Given the description of an element on the screen output the (x, y) to click on. 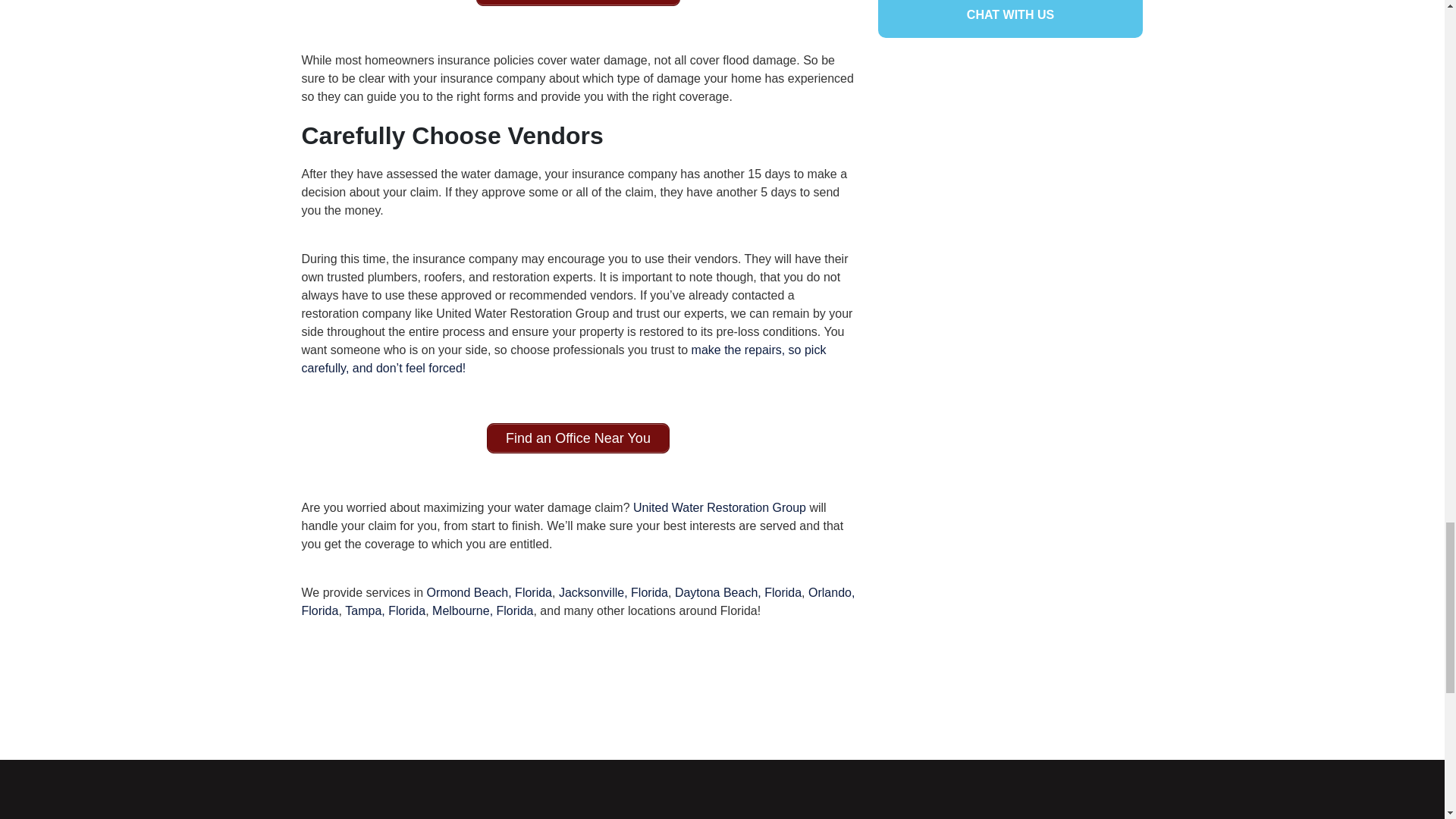
Melbourne, Florida (481, 610)
Ormond Beach, Florida (487, 592)
Orlando, Florida (578, 601)
Tampa, Florida (383, 610)
Storm Restoration Services (577, 2)
Find an Office Near You (577, 438)
Daytona Beach, Florida (736, 592)
United Water Restoration Group (719, 507)
Jacksonville, Florida (611, 592)
